Given the description of an element on the screen output the (x, y) to click on. 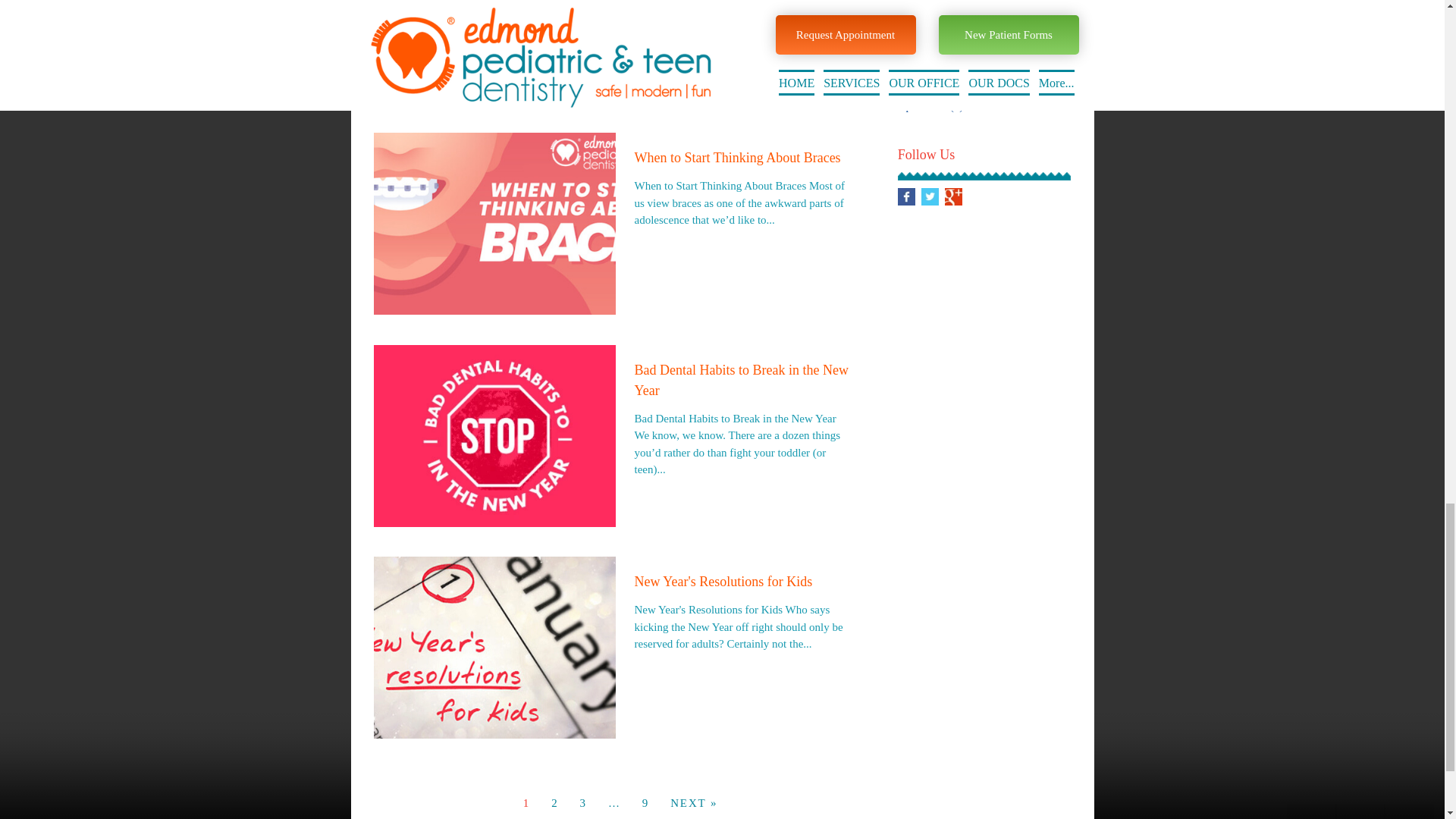
9 (645, 802)
3 (582, 802)
2 (554, 802)
